Given the description of an element on the screen output the (x, y) to click on. 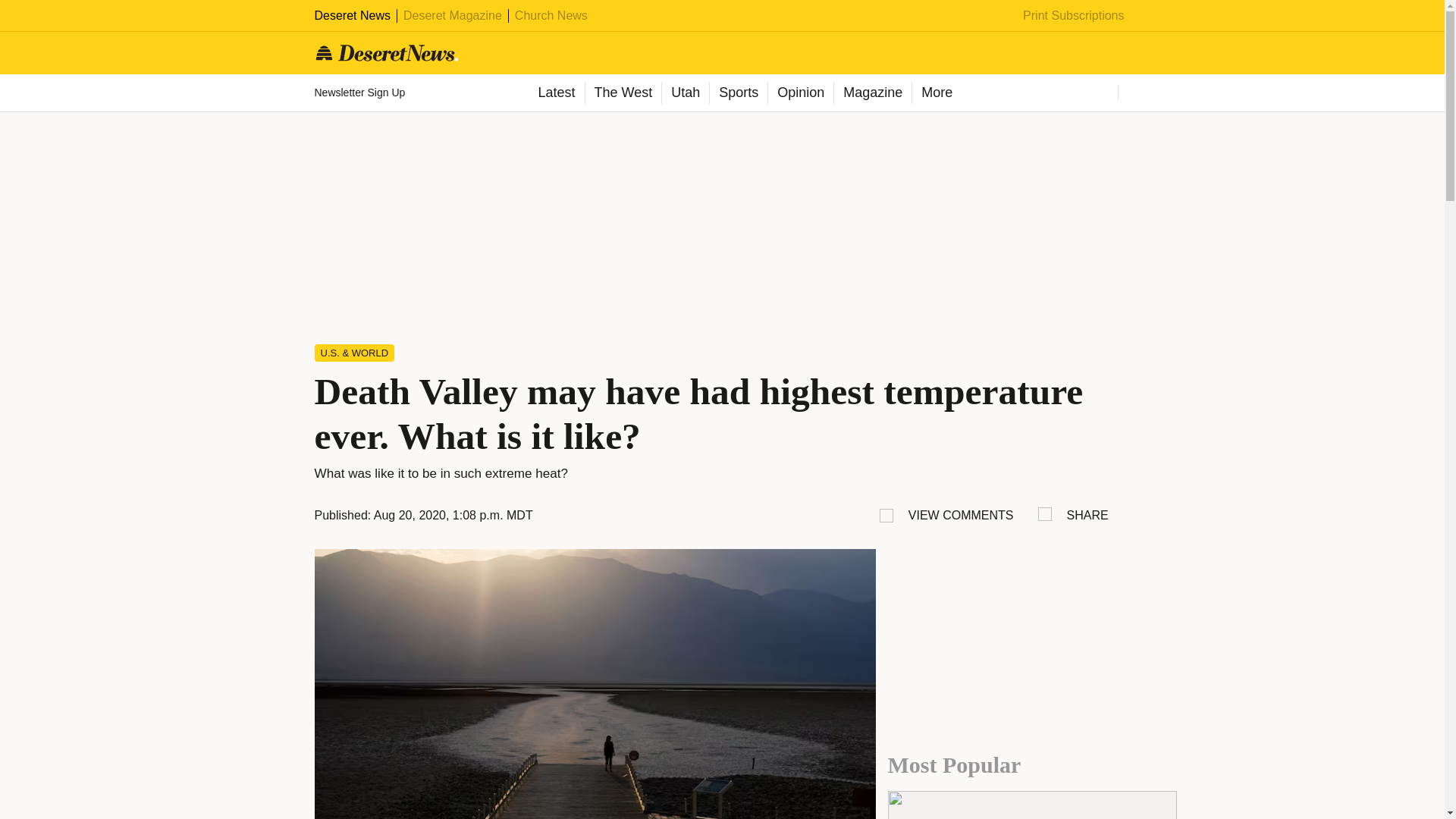
Magazine (871, 92)
Print Subscriptions (1073, 15)
Deseret News (352, 15)
Sports (738, 92)
Utah (685, 92)
Newsletter Sign Up (361, 92)
Latest (555, 92)
Church News (551, 15)
Deseret Magazine (452, 15)
Opinion (799, 92)
The West (622, 92)
